Given the description of an element on the screen output the (x, y) to click on. 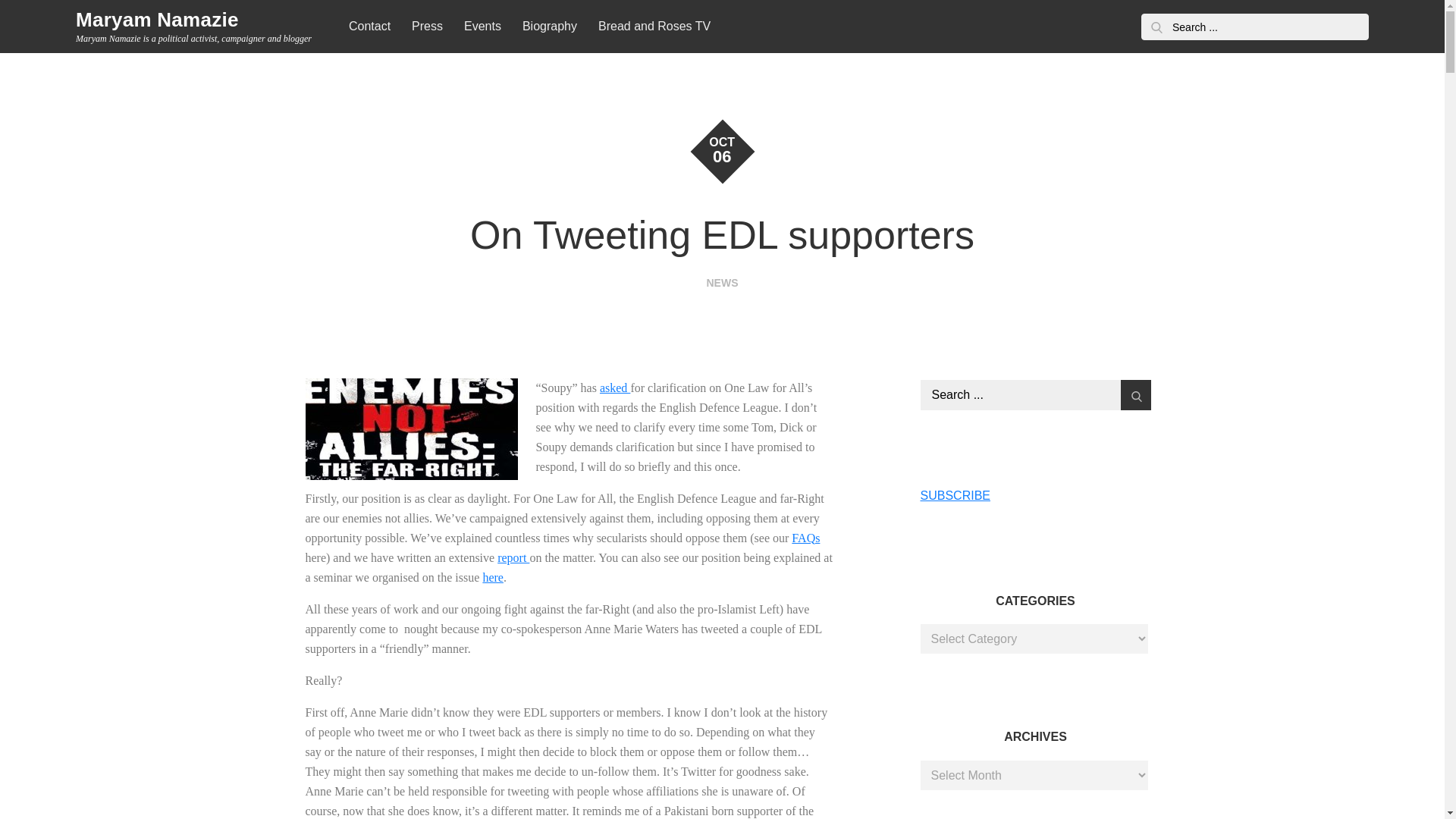
Press (427, 26)
Maryam Namazie (156, 19)
asked (614, 387)
NEWS (722, 282)
here (492, 576)
FAQs (805, 537)
Bread and Roses TV (654, 26)
Contact (368, 26)
Search (1156, 26)
Search for: (1254, 26)
